Given the description of an element on the screen output the (x, y) to click on. 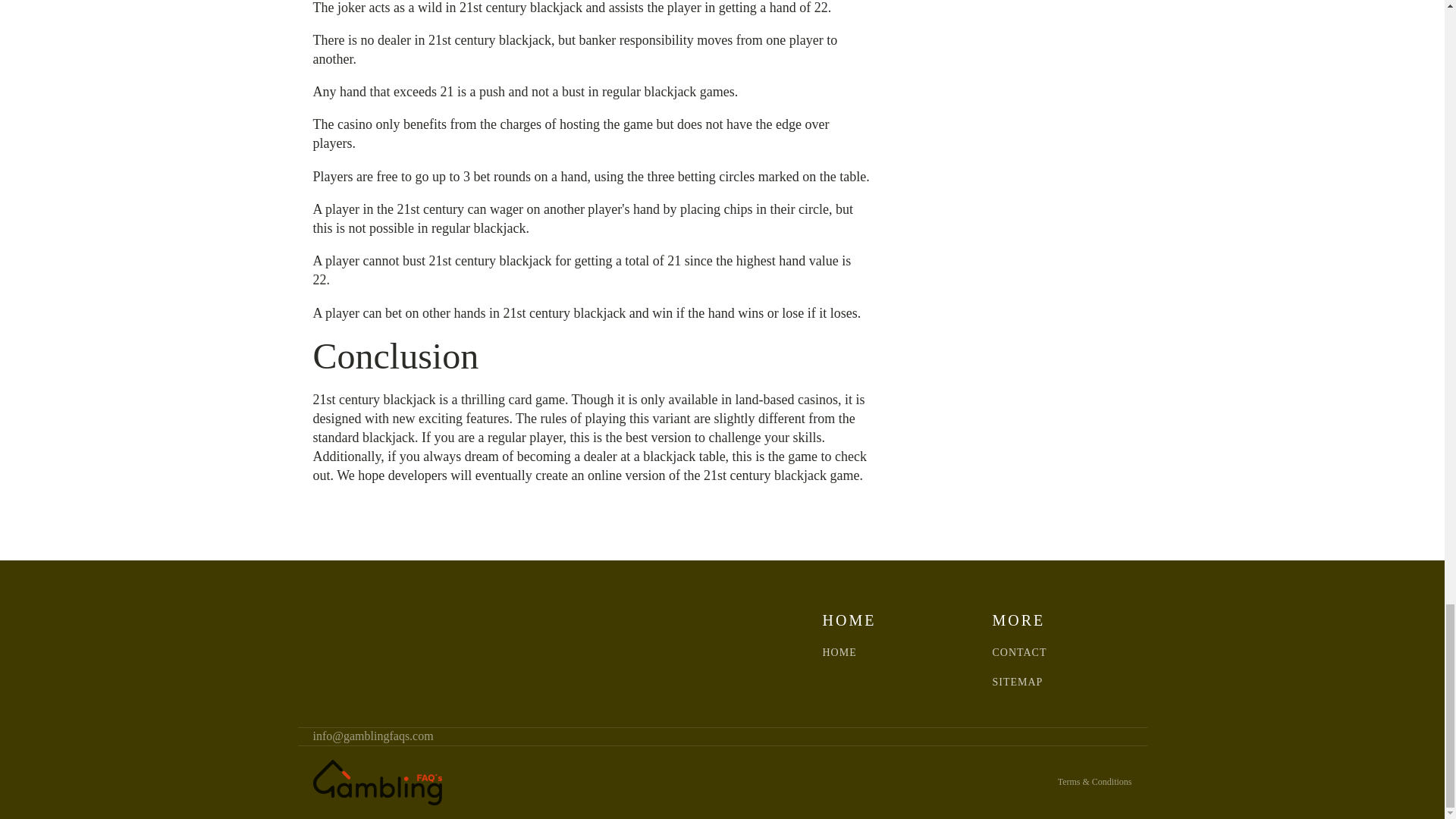
SITEMAP (1016, 681)
HOME (839, 652)
CONTACT (1018, 652)
